Given the description of an element on the screen output the (x, y) to click on. 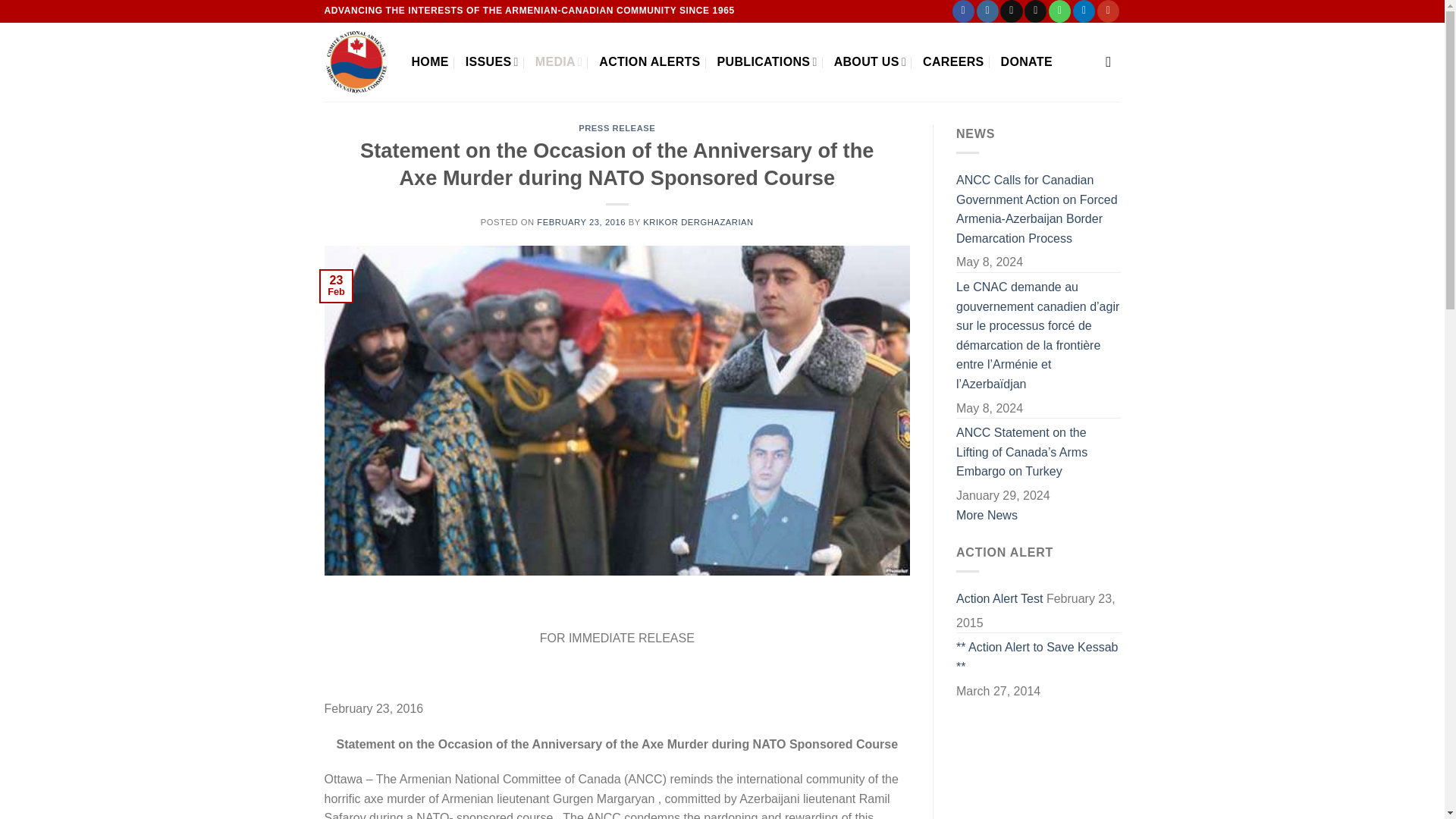
Send us an email (1035, 11)
MEDIA (559, 61)
Call us (1059, 11)
Follow on X (1011, 11)
Follow on YouTube (1108, 11)
ABOUT US (869, 61)
PUBLICATIONS (766, 61)
Follow on Instagram (987, 11)
Follow on LinkedIn (1083, 11)
HOME (429, 61)
